Given the description of an element on the screen output the (x, y) to click on. 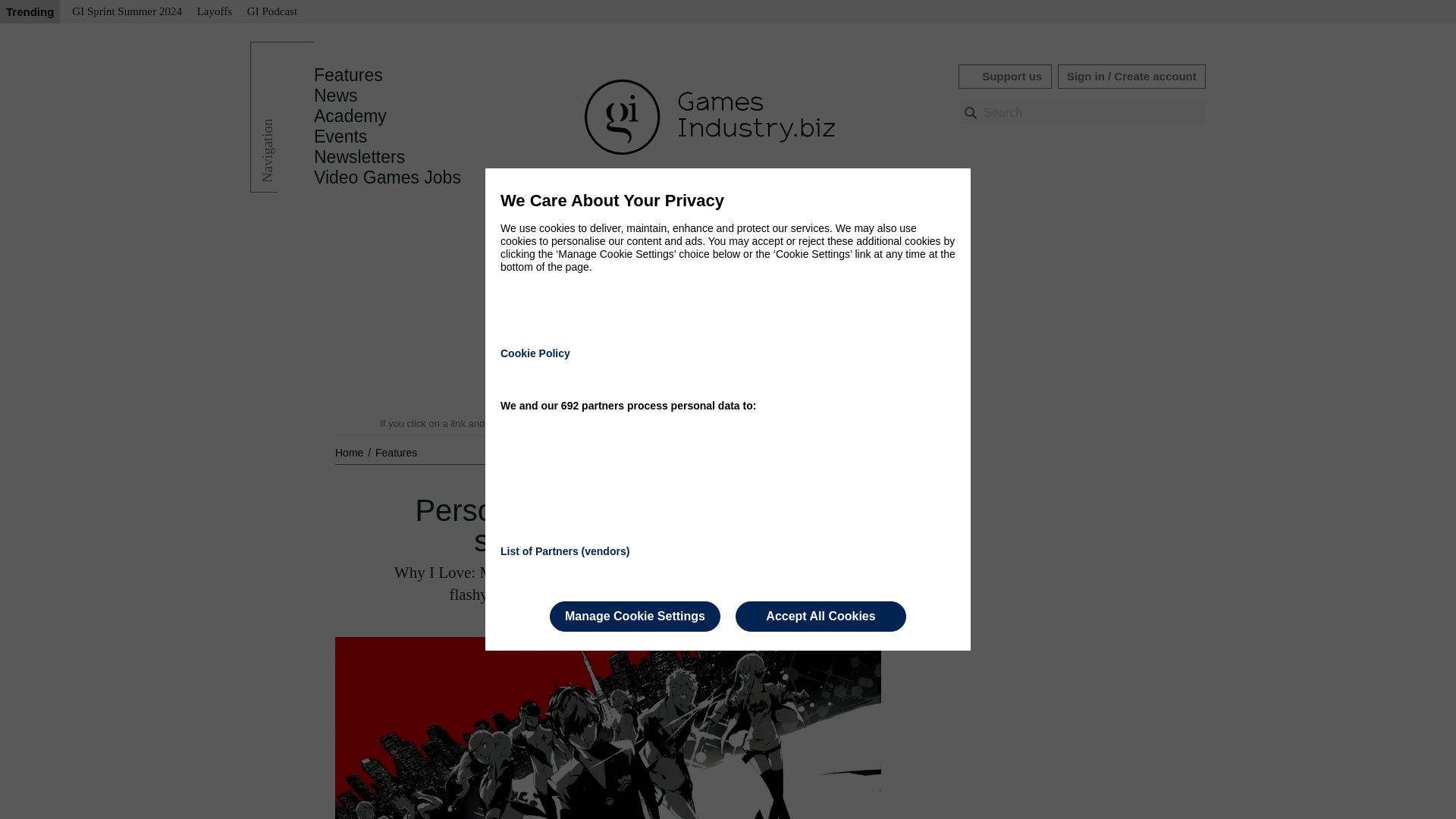
Layoffs (214, 11)
GI Podcast (271, 11)
GI Sprint Summer 2024 (126, 11)
Video Games Jobs (387, 177)
News (336, 95)
Academy (350, 116)
Features (395, 452)
Layoffs (214, 11)
Features (395, 452)
GI Sprint Summer 2024 (126, 11)
News (336, 95)
Read our editorial policy (781, 423)
GI Podcast (271, 11)
Academy (350, 116)
Events (340, 136)
